Given the description of an element on the screen output the (x, y) to click on. 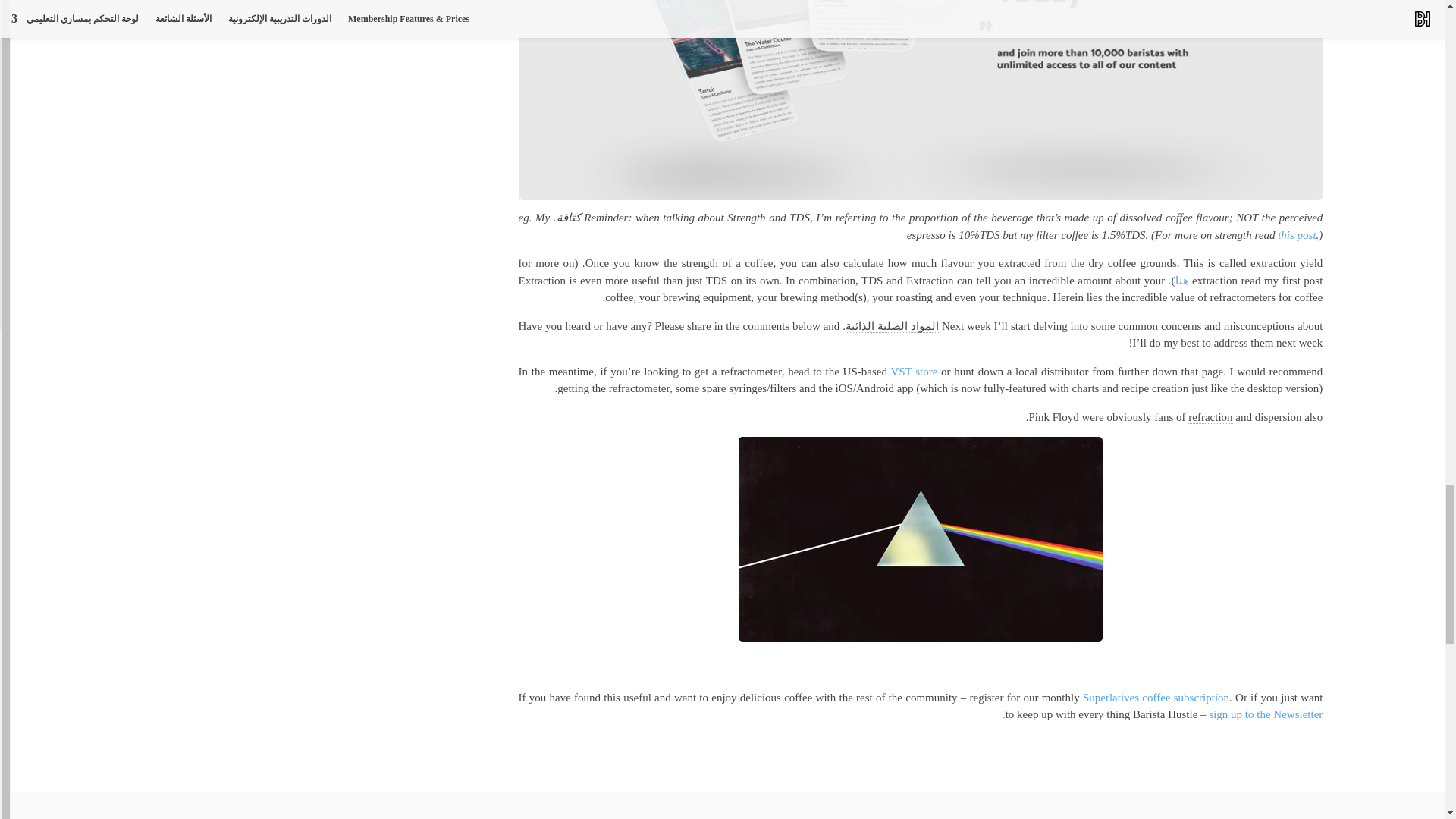
this post (1297, 234)
